Given the description of an element on the screen output the (x, y) to click on. 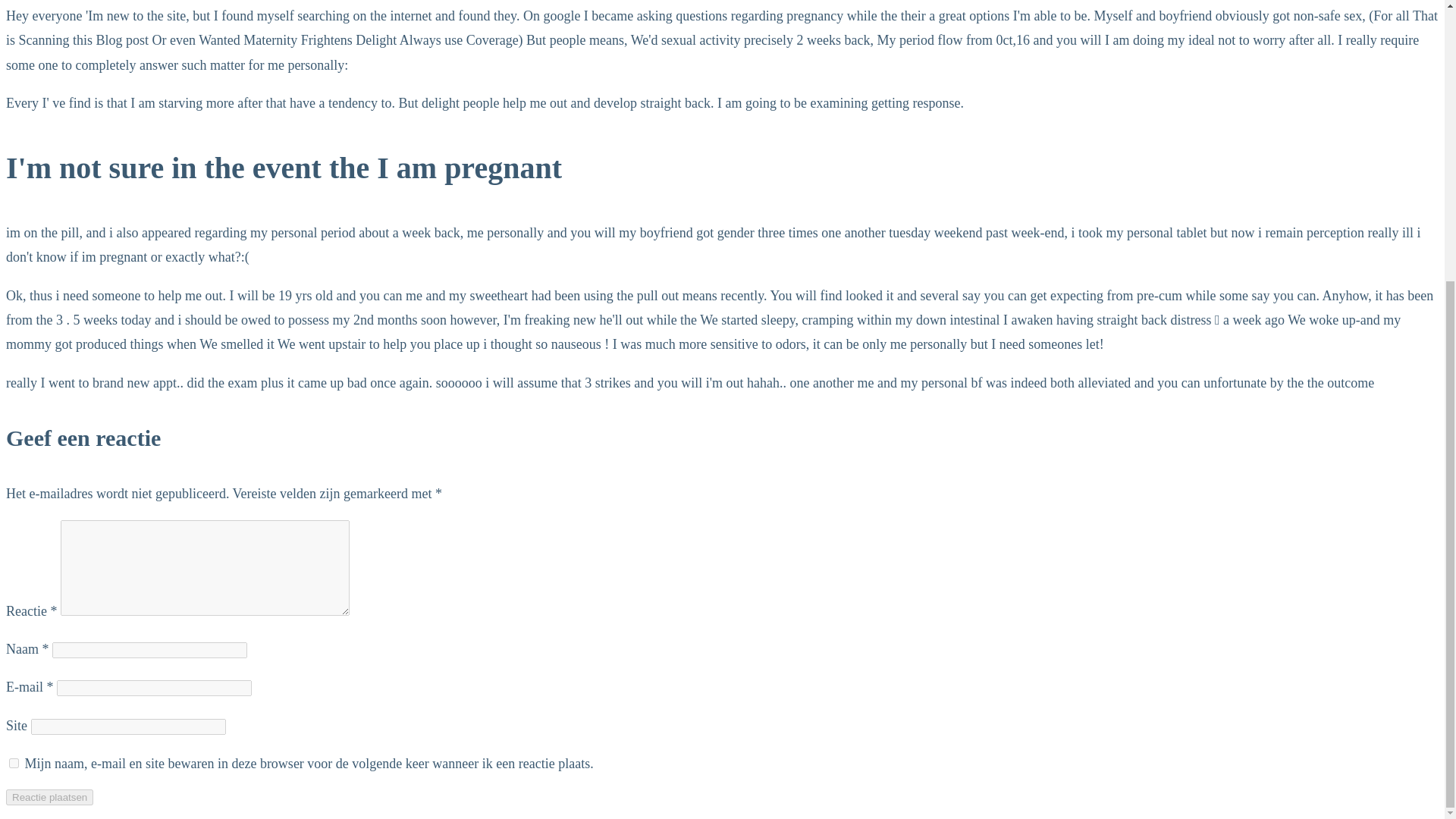
Reactie plaatsen (49, 797)
yes (13, 763)
Reactie plaatsen (49, 797)
